Given the description of an element on the screen output the (x, y) to click on. 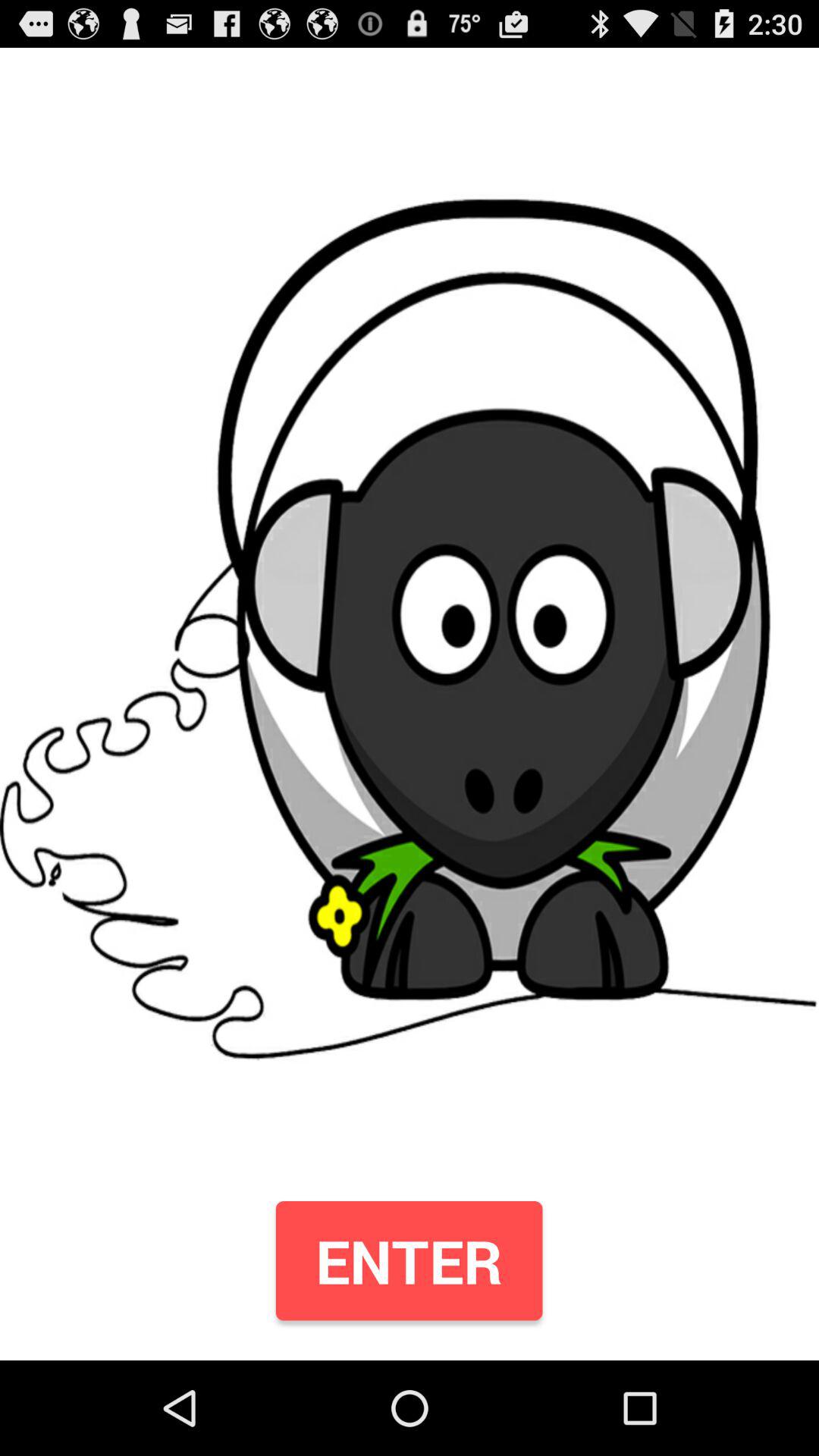
turn off the item at the bottom (408, 1260)
